Given the description of an element on the screen output the (x, y) to click on. 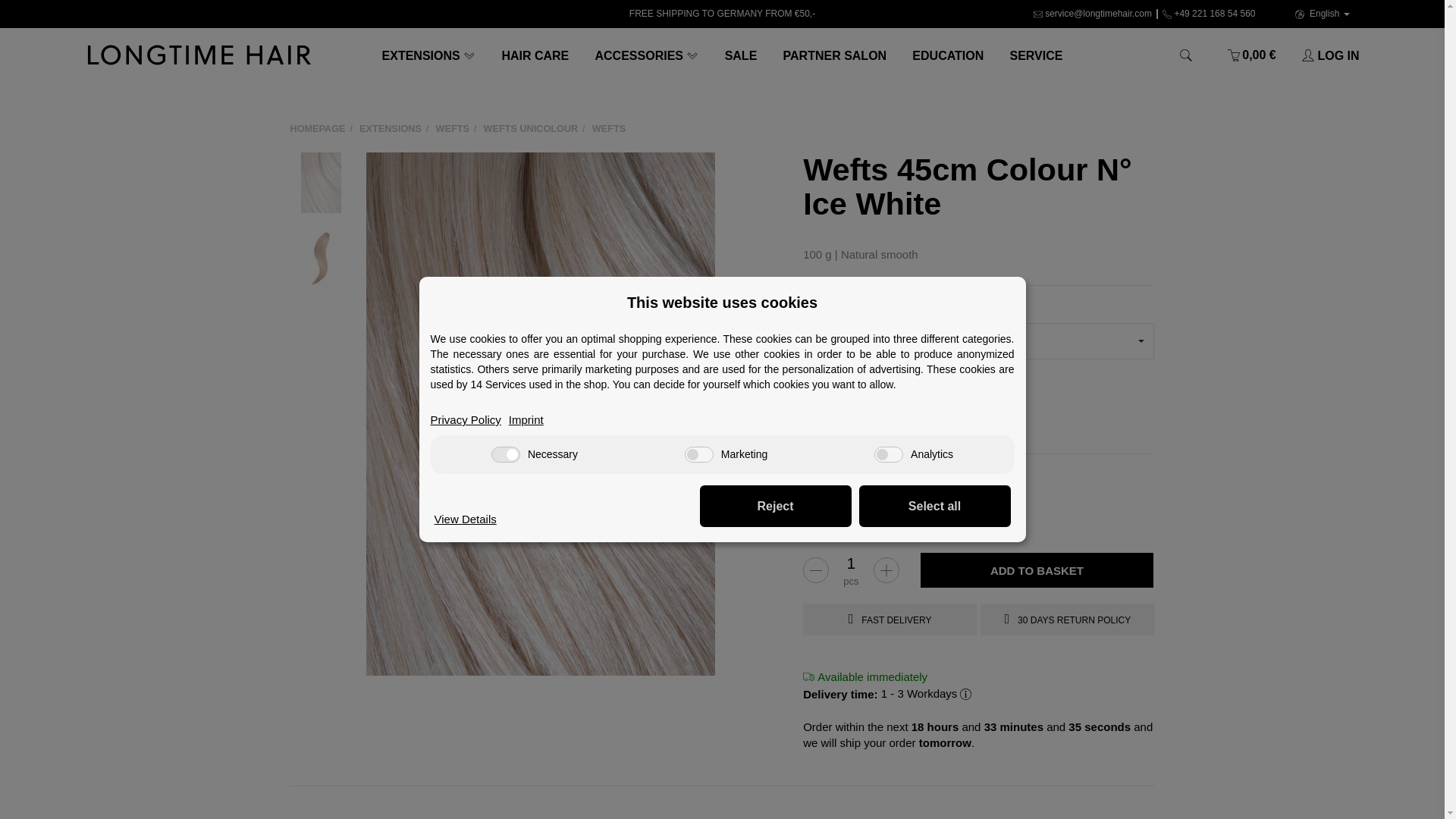
Partner Salon (834, 55)
  English (1321, 13)
Basket (1251, 55)
on (505, 454)
LONGTIME HAIR (198, 54)
1 (850, 563)
Log in (1323, 55)
Please select a language. (1321, 13)
ACCESSORIES (645, 55)
EXTENSIONS (427, 55)
on (698, 454)
1831 (874, 396)
on (888, 454)
SALE (740, 55)
HAIR CARE (533, 55)
